Given the description of an element on the screen output the (x, y) to click on. 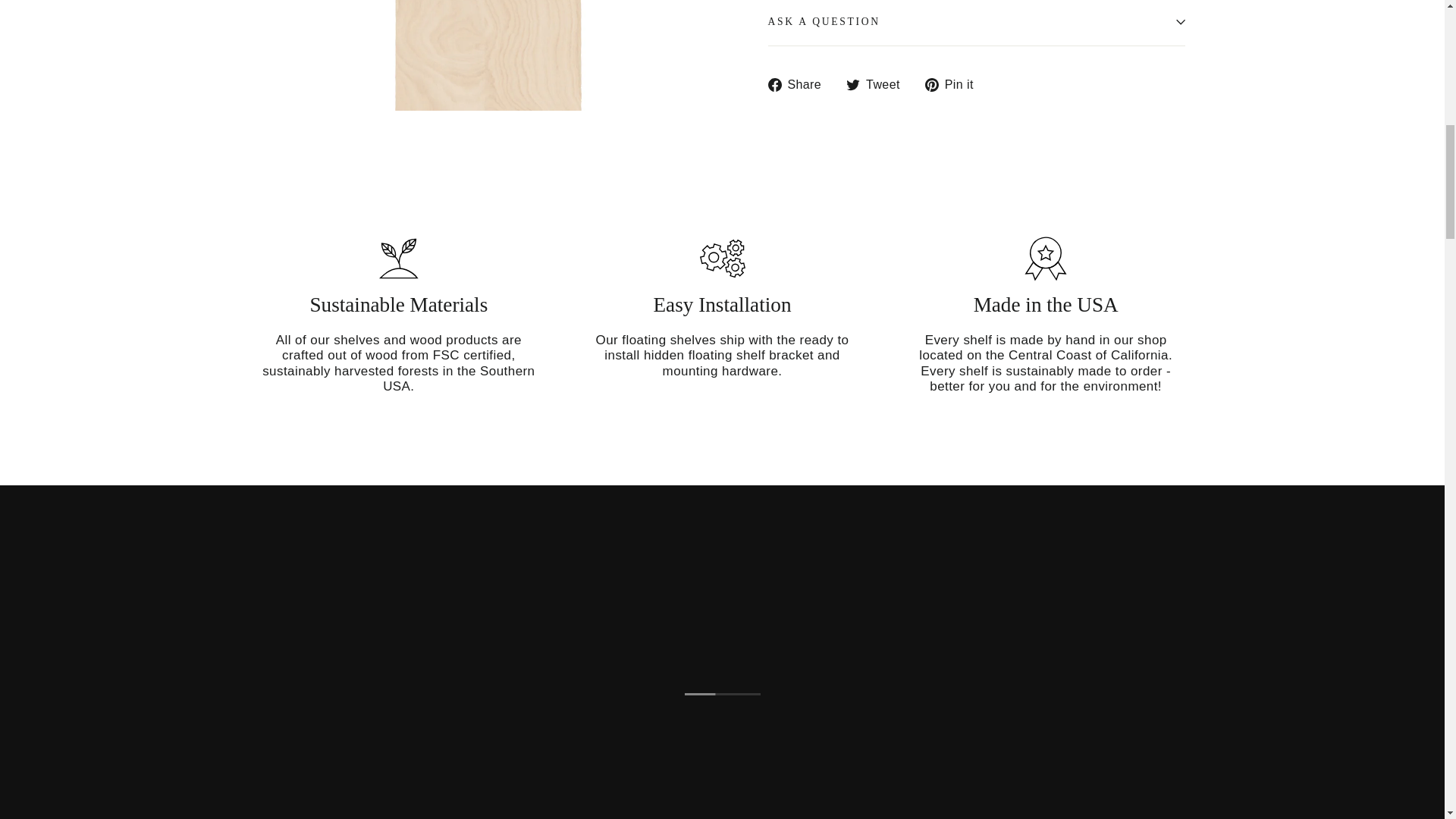
Pin on Pinterest (954, 83)
Tweet on Twitter (878, 83)
Share on Facebook (799, 83)
twitter (852, 84)
